Given the description of an element on the screen output the (x, y) to click on. 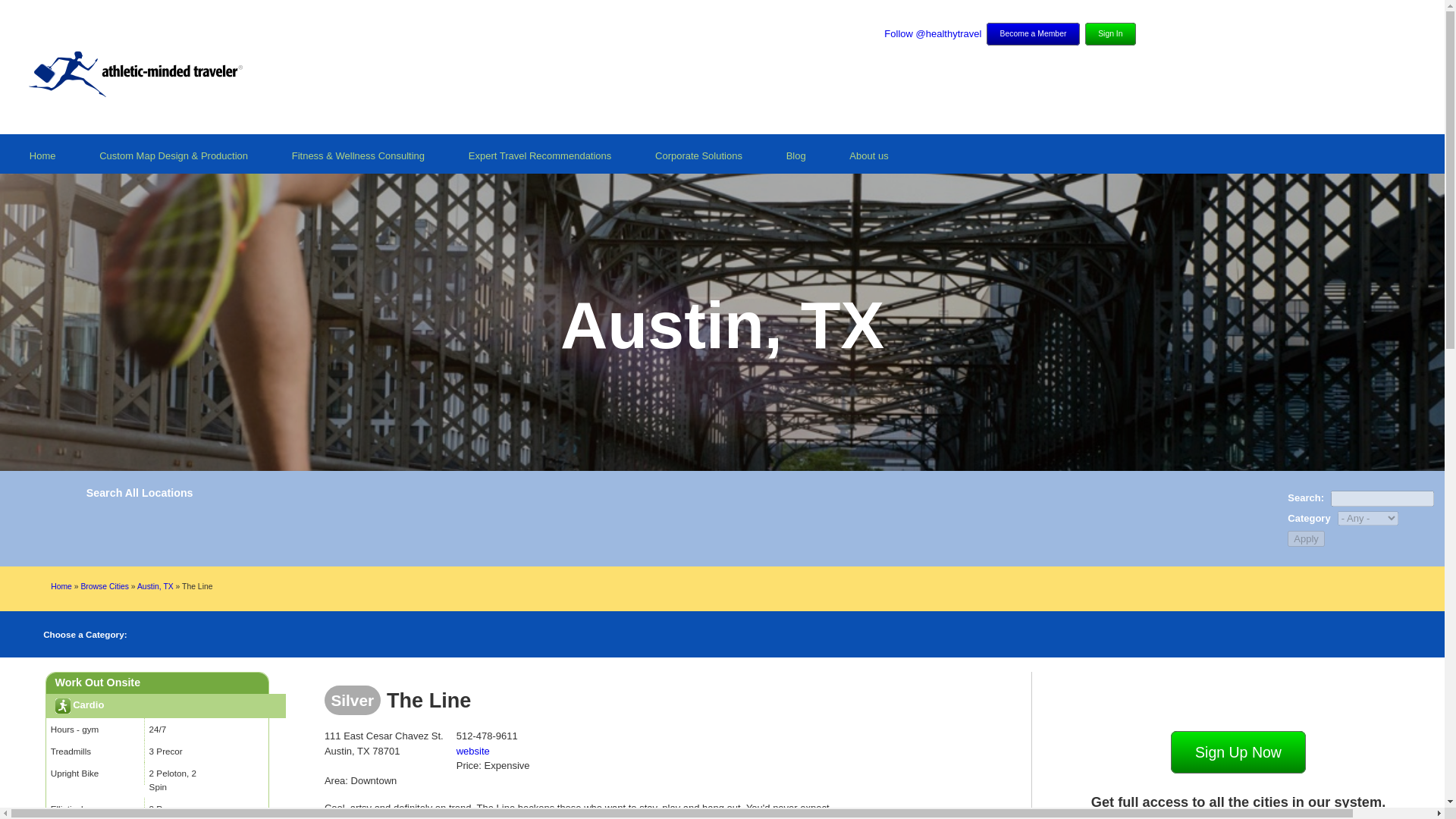
Austin, TX (154, 586)
Blog (795, 160)
Become a Member (1033, 33)
Sign In (1110, 33)
About us (868, 160)
Browse Cities (104, 586)
Apply (1305, 538)
Home (60, 586)
Apply (1305, 538)
Enter the terms you wish to search for. (1382, 498)
Corporate Solutions (698, 160)
website (493, 751)
Expert Travel Recommendations (540, 160)
Sign Up Now (1238, 752)
